Given the description of an element on the screen output the (x, y) to click on. 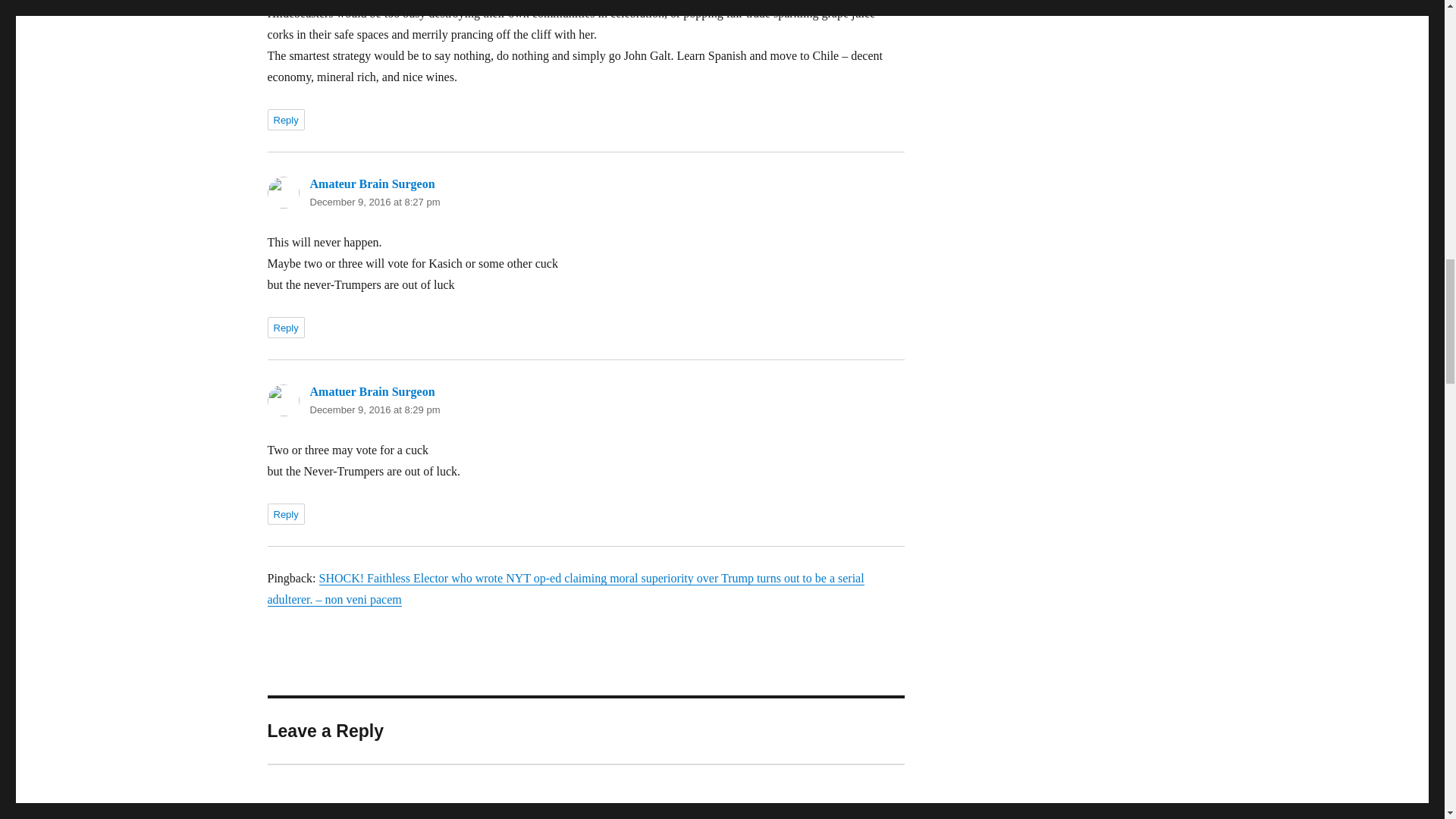
December 9, 2016 at 8:29 pm (373, 409)
Reply (285, 513)
Comment Form (585, 791)
Amatuer Brain Surgeon (370, 391)
Amateur Brain Surgeon (370, 183)
Reply (285, 119)
Reply (285, 327)
December 9, 2016 at 8:27 pm (373, 202)
